Given the description of an element on the screen output the (x, y) to click on. 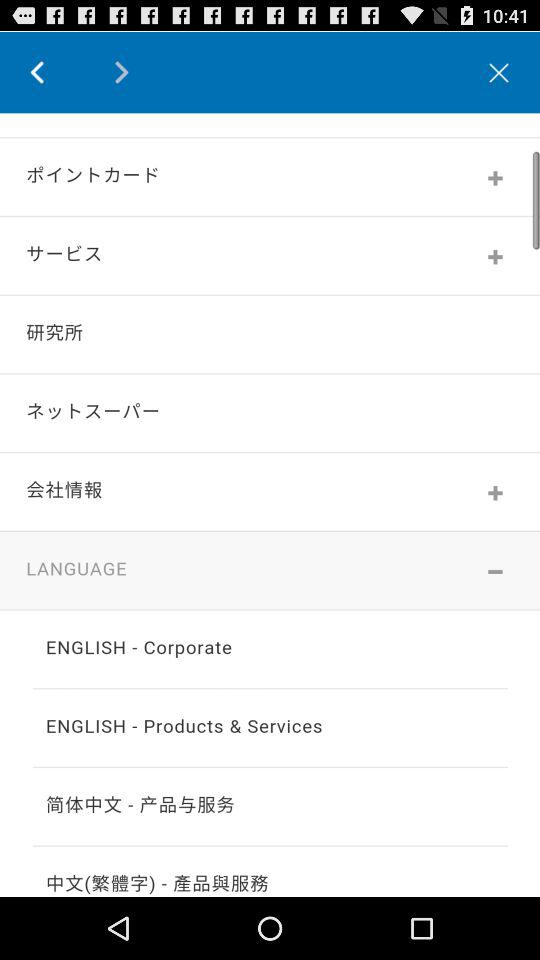
previous page (52, 71)
